Given the description of an element on the screen output the (x, y) to click on. 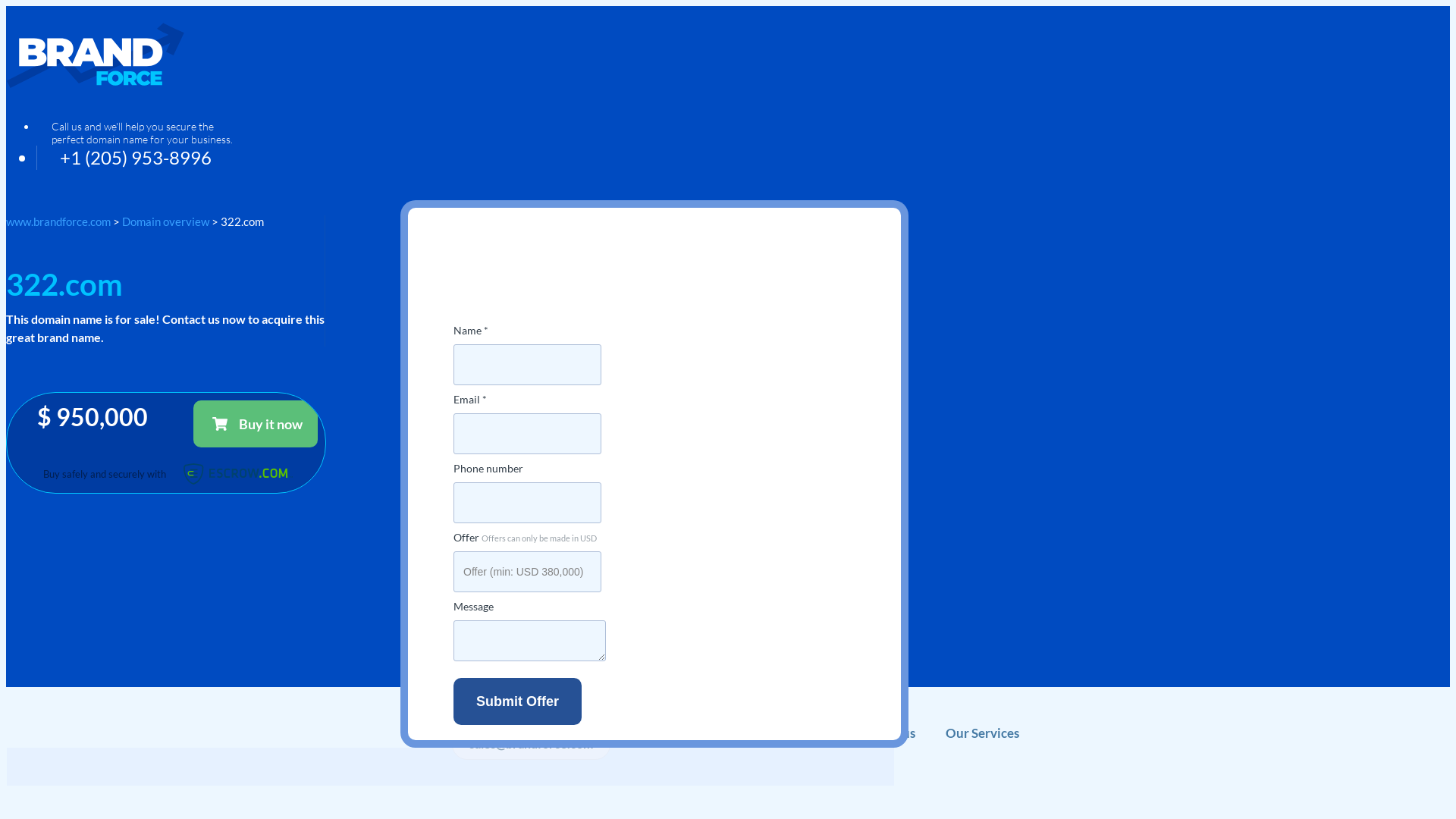
About us Element type: text (888, 743)
Domain overview Element type: text (165, 221)
Submit offer Element type: text (517, 700)
Buy it now Element type: text (255, 423)
sales@brandforce.com Element type: text (530, 743)
Our Services Element type: text (982, 743)
Contact Element type: text (808, 743)
www.brandforce.com Element type: text (58, 221)
